Given the description of an element on the screen output the (x, y) to click on. 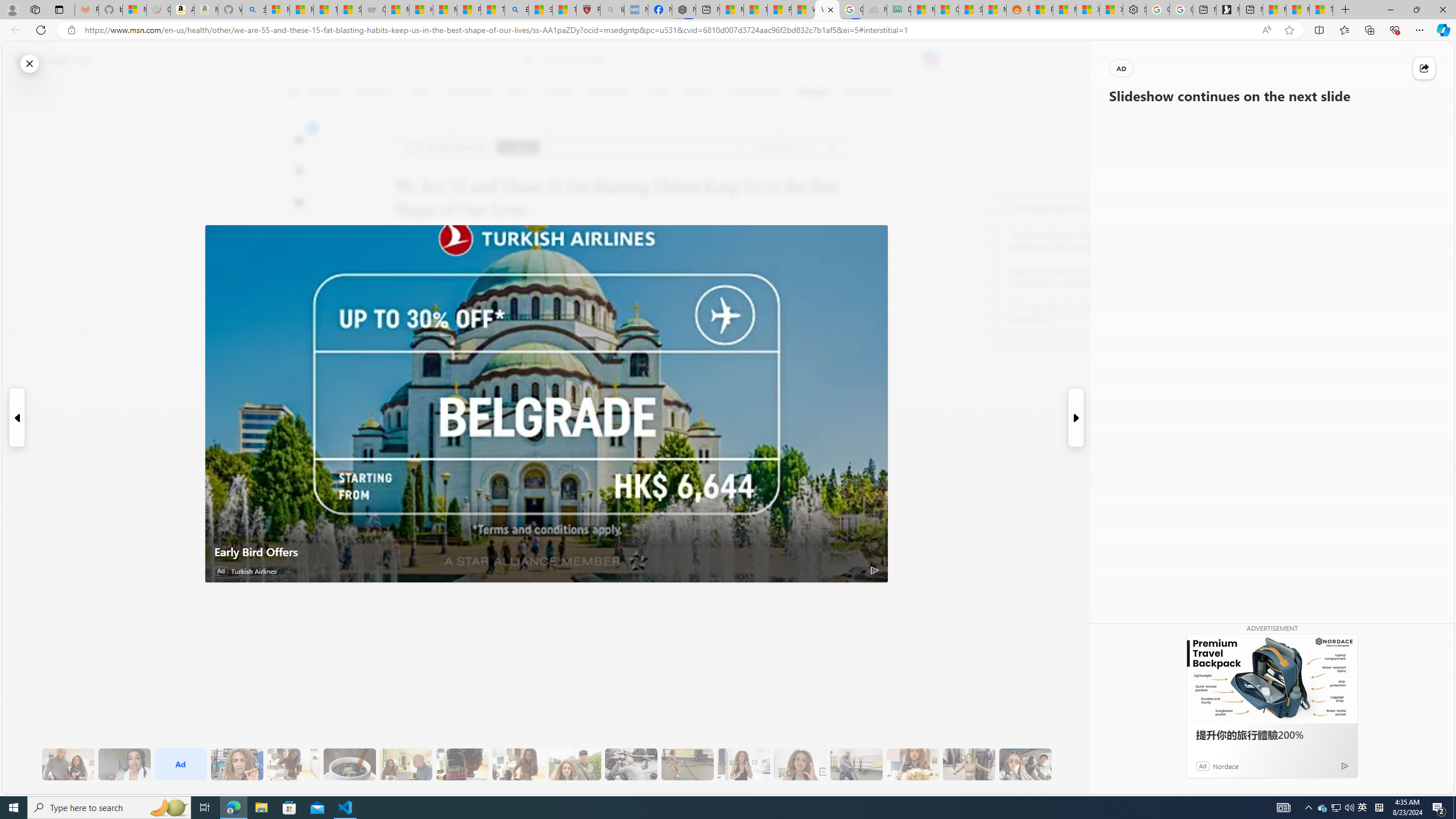
6 Like (299, 138)
10 Then, They Do HIIT Cardio (687, 764)
6 (299, 170)
